Given the description of an element on the screen output the (x, y) to click on. 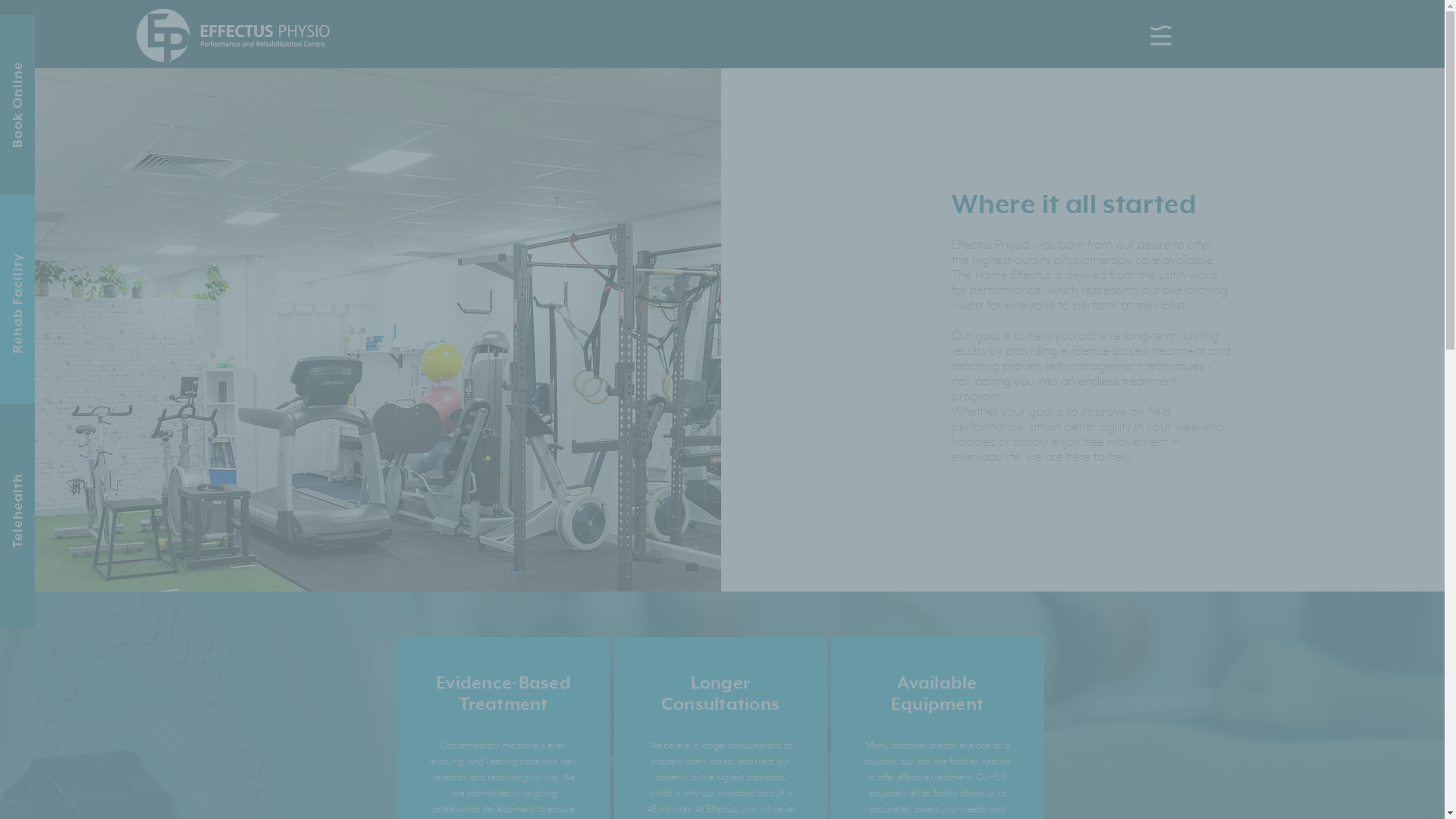
Telehealth Element type: text (47, 480)
Book Online Element type: text (53, 68)
Rehab Facility Element type: text (60, 260)
